Given the description of an element on the screen output the (x, y) to click on. 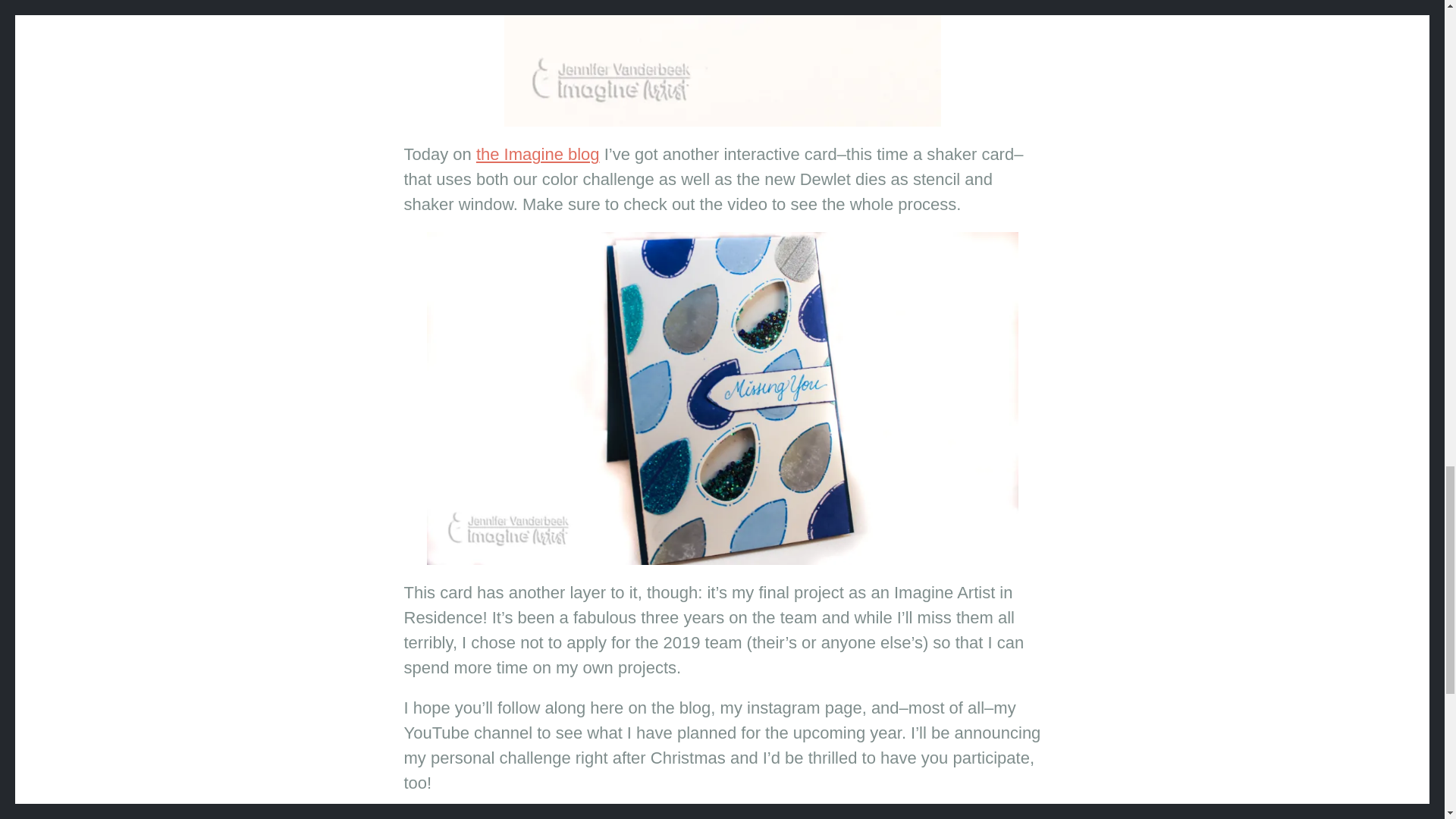
the Imagine blog (537, 153)
